Given the description of an element on the screen output the (x, y) to click on. 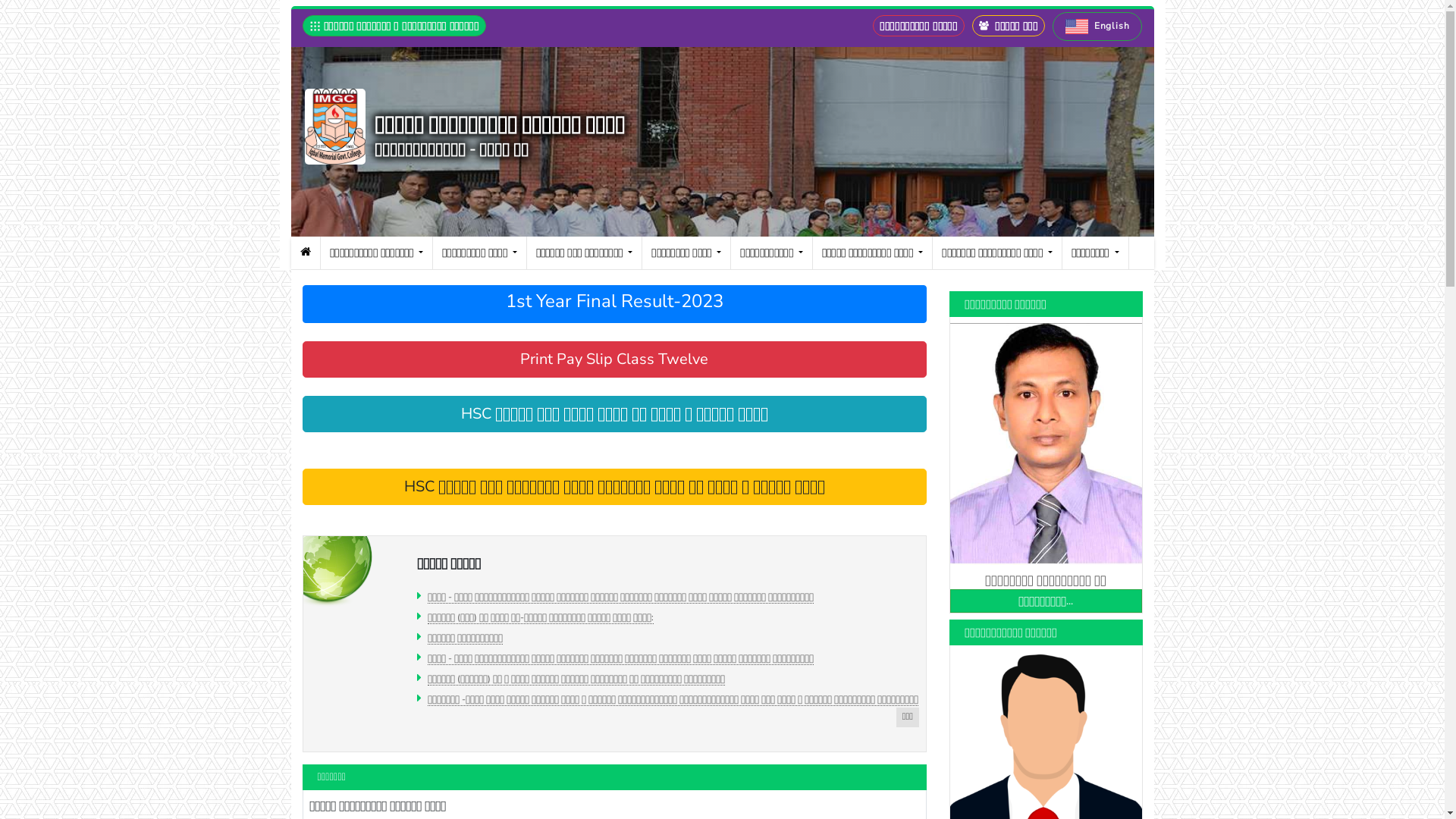
1st Year Final Result-2023 Element type: text (613, 304)
Print Pay Slip Class Twelve Element type: text (613, 359)
English Element type: text (1097, 26)
